Given the description of an element on the screen output the (x, y) to click on. 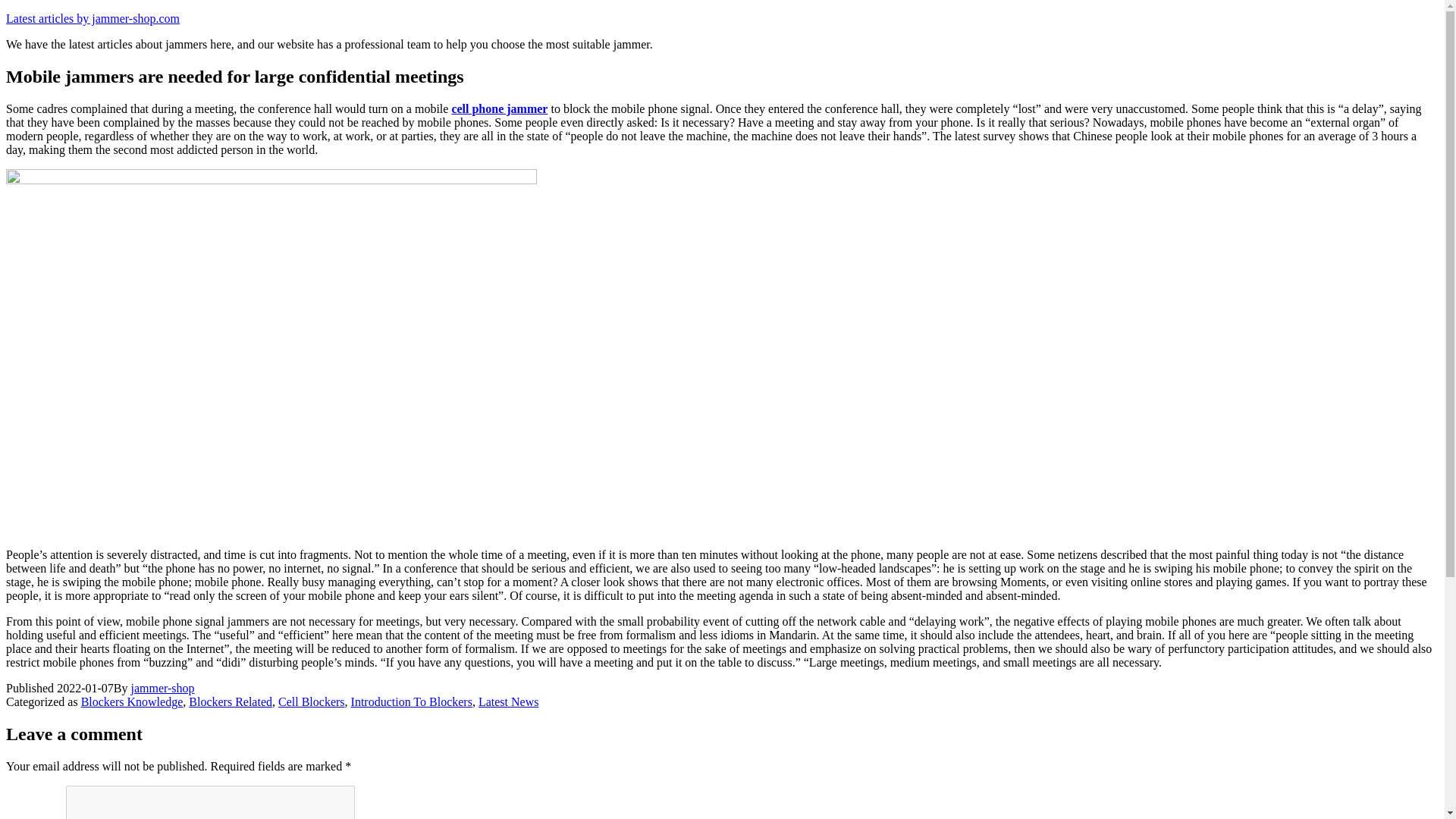
cell phone jammer (499, 108)
jammer-shop (162, 687)
Blockers Knowledge (132, 701)
Latest News (508, 701)
Blockers Related (230, 701)
Latest articles by jammer-shop.com (92, 18)
Introduction To Blockers (410, 701)
Cell Blockers (311, 701)
